Given the description of an element on the screen output the (x, y) to click on. 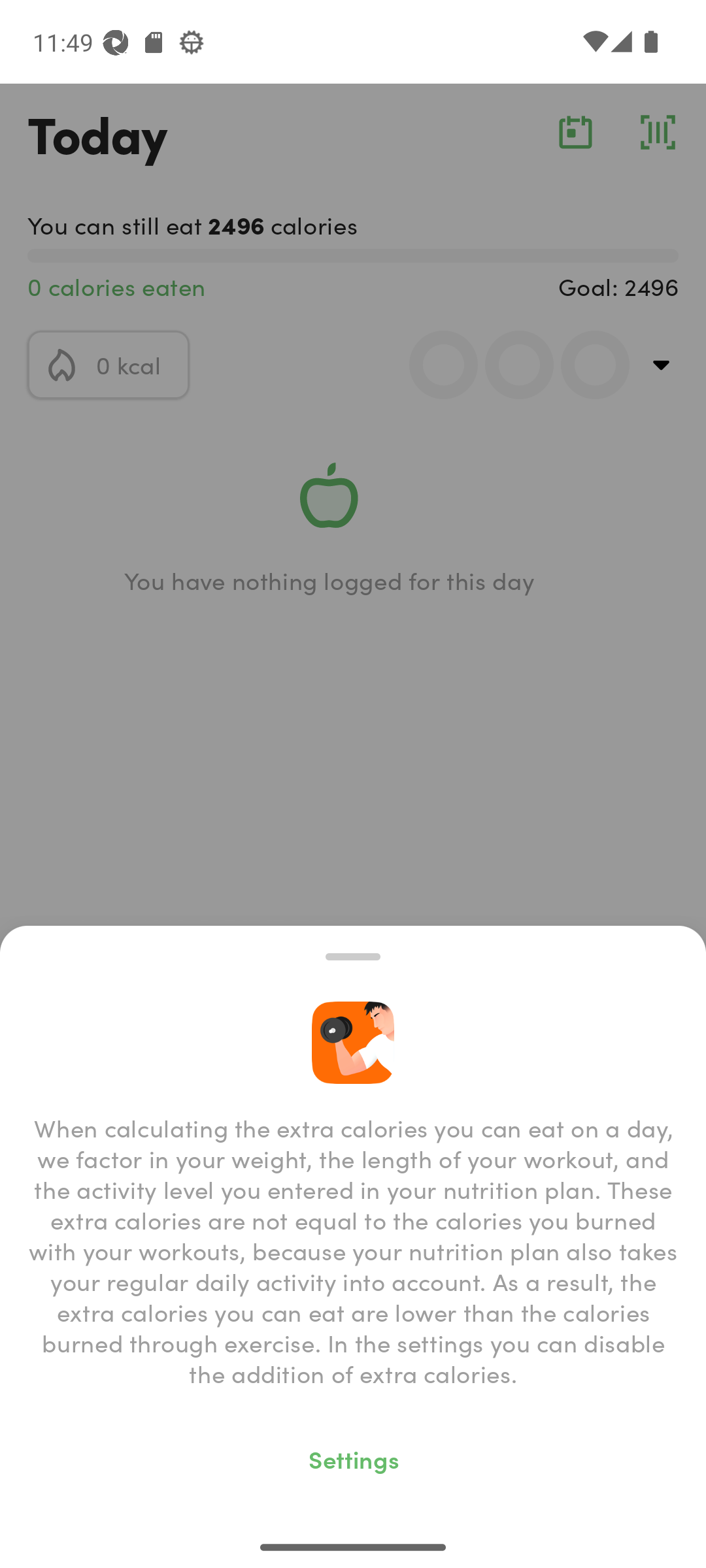
Settings (353, 1458)
